Given the description of an element on the screen output the (x, y) to click on. 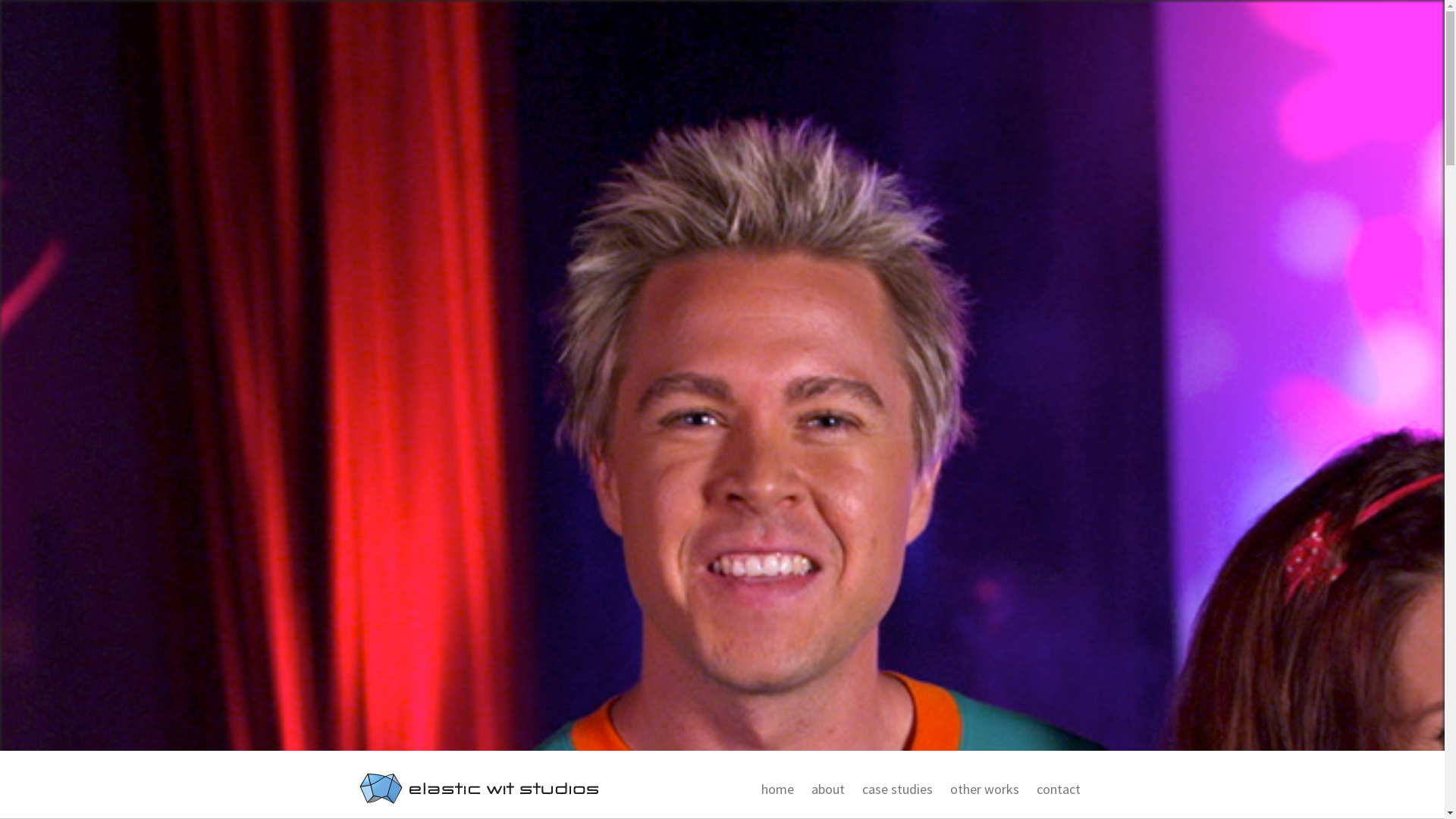
home Element type: text (774, 789)
contact Element type: text (1055, 789)
other works Element type: text (981, 789)
case studies Element type: text (894, 789)
about Element type: text (824, 789)
